Given the description of an element on the screen output the (x, y) to click on. 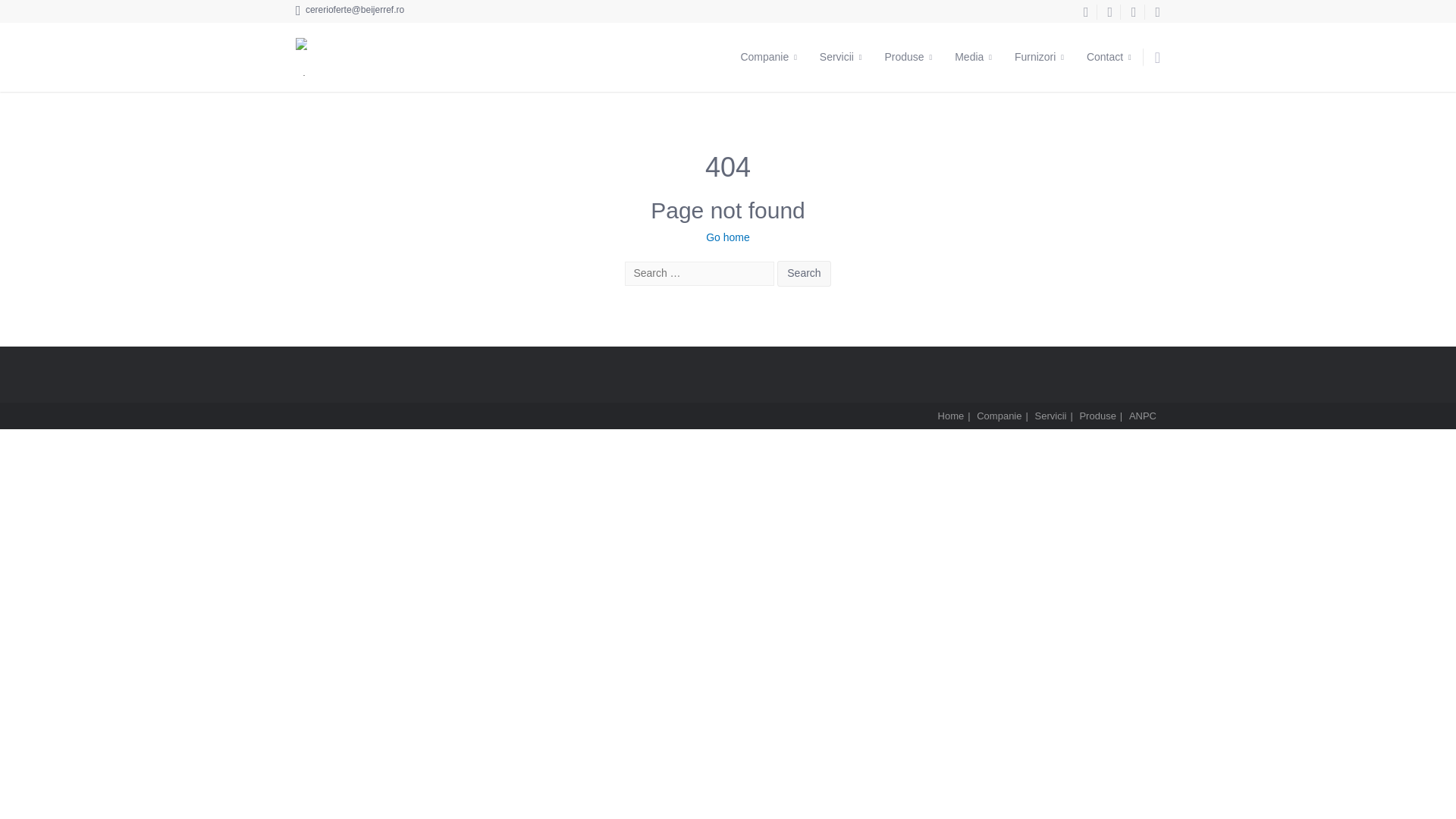
Produse (907, 56)
Search (803, 273)
Servicii (840, 56)
Search (803, 273)
Companie (768, 56)
